Given the description of an element on the screen output the (x, y) to click on. 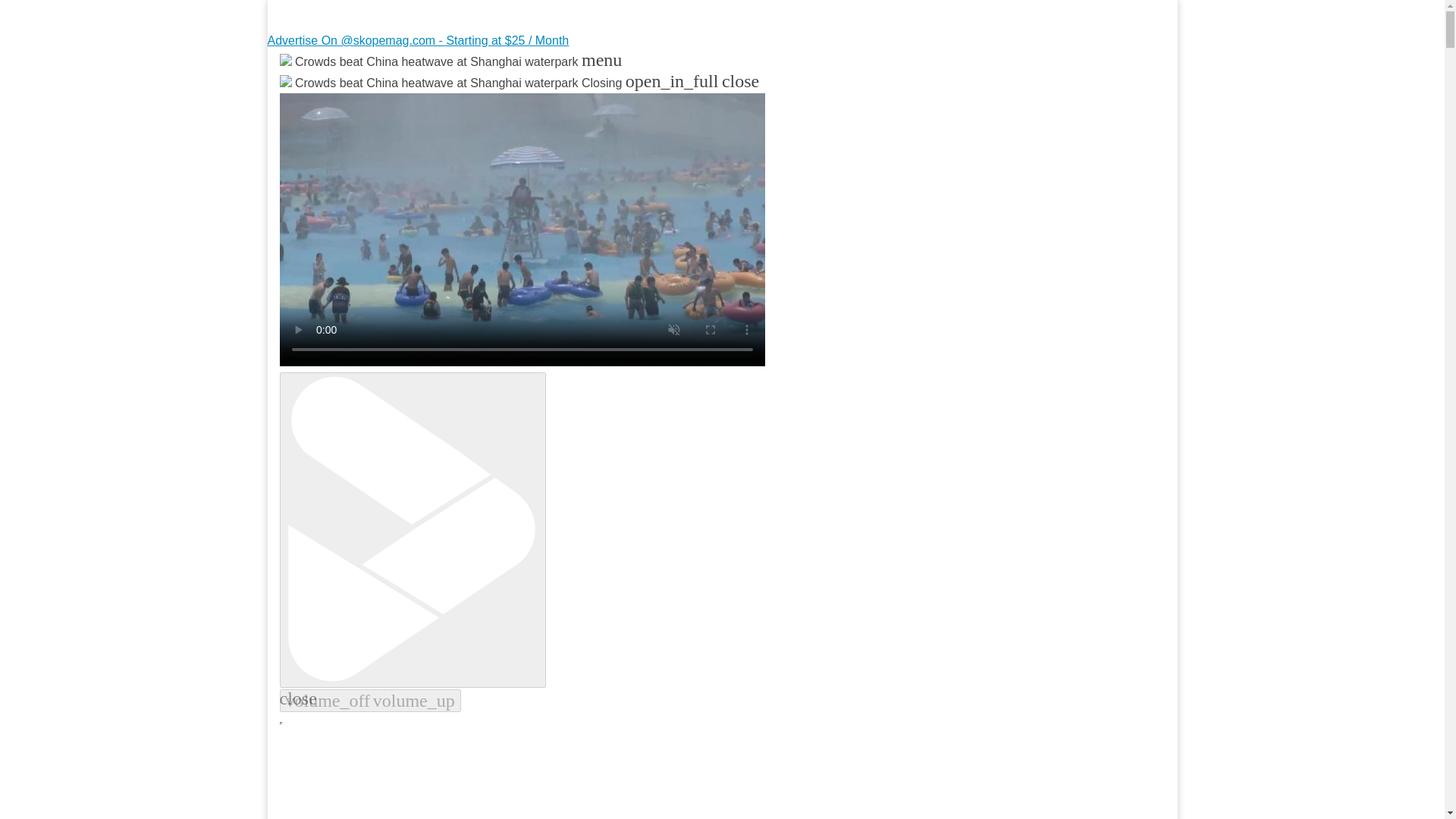
Skope Entertainment Inc (462, 98)
Skope Entertainment Inc (462, 98)
